Given the description of an element on the screen output the (x, y) to click on. 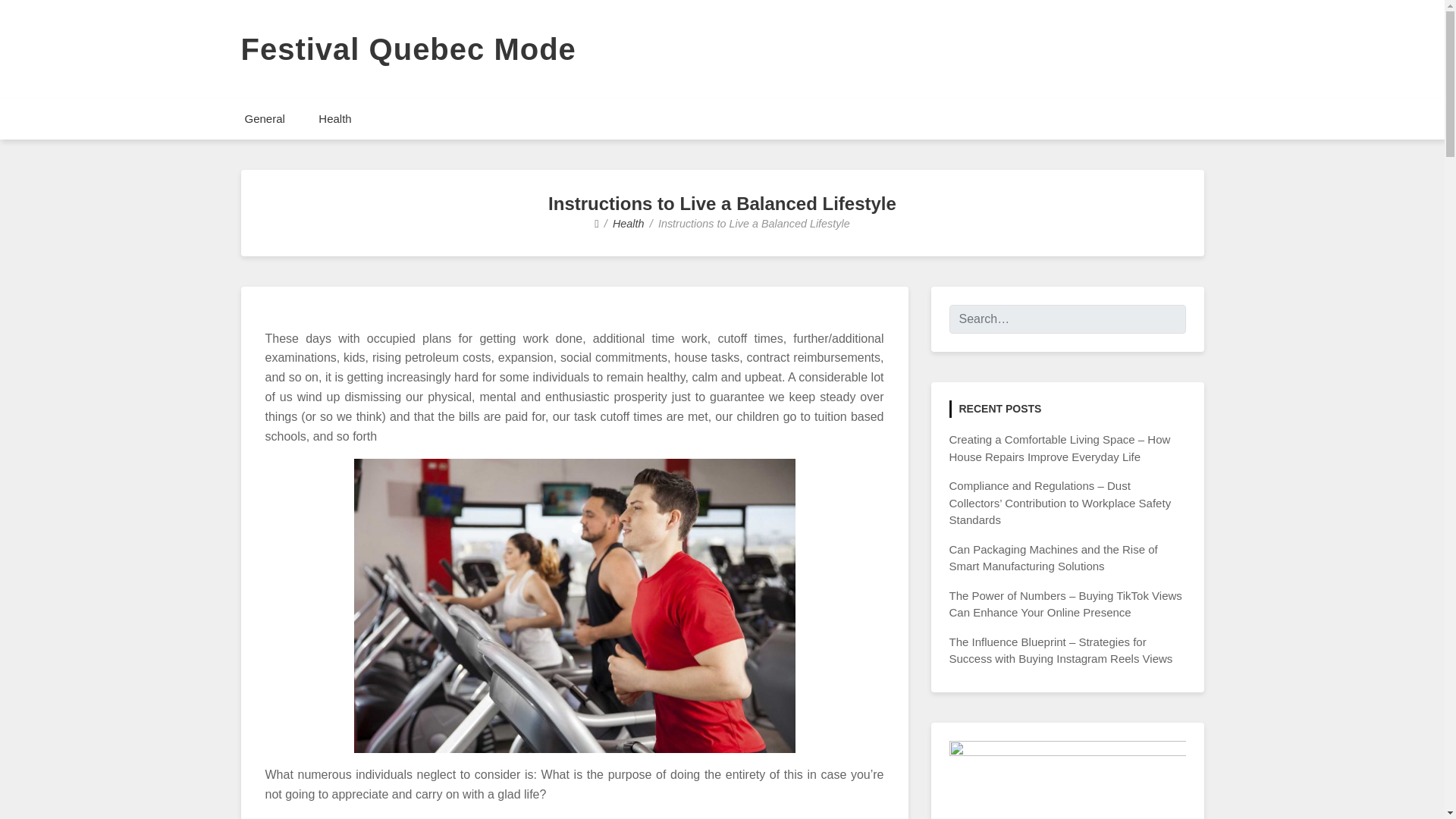
General (263, 118)
Health (334, 118)
Health (628, 223)
Festival Quebec Mode (408, 49)
